Given the description of an element on the screen output the (x, y) to click on. 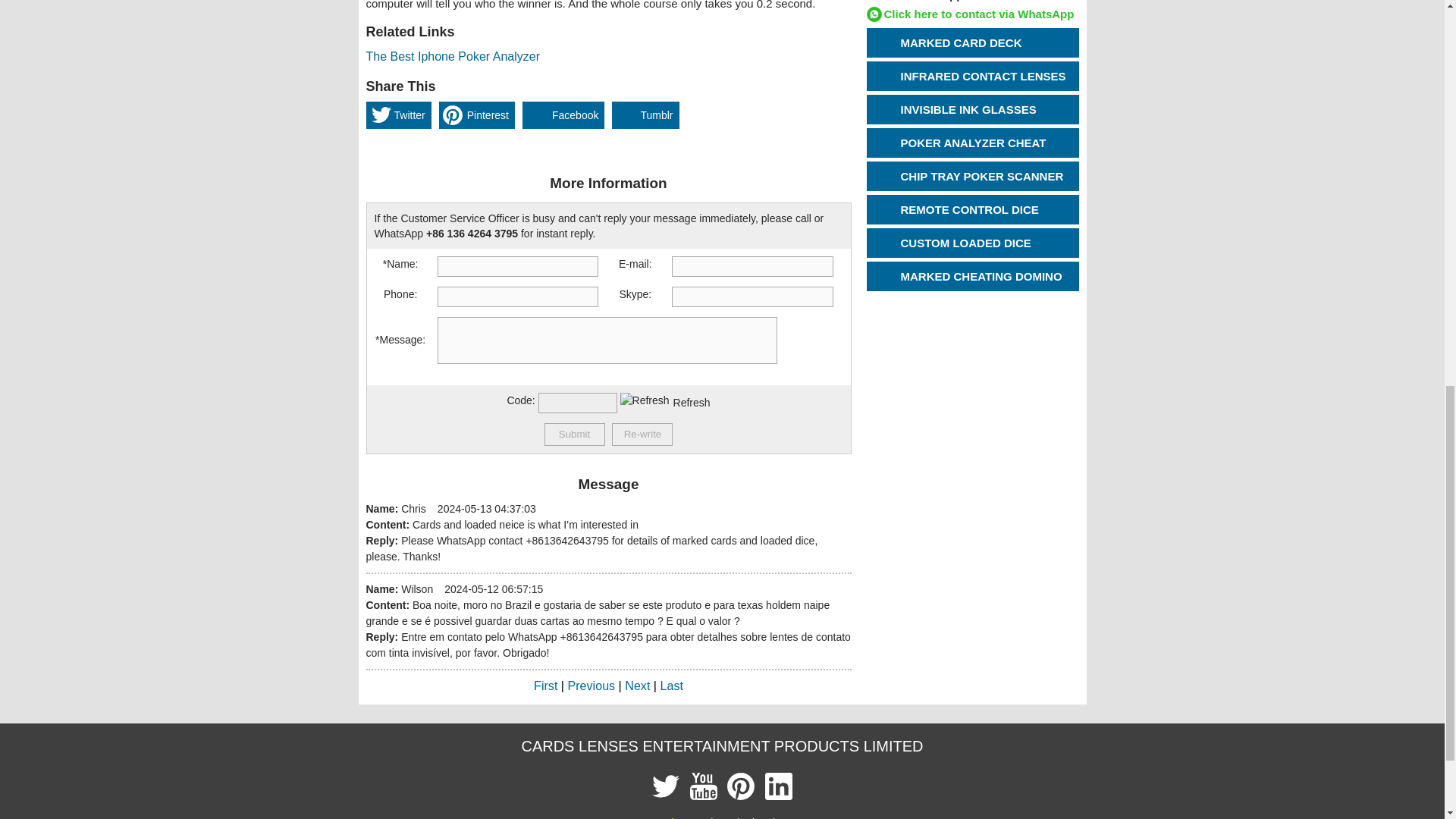
Submit (574, 434)
Share on Twitter (397, 114)
Click to contact via WhatsApp (970, 13)
Tumblr (644, 114)
Next (636, 685)
Submit (574, 434)
INFRARED CONTACT LENSES (986, 76)
MARKED CARD DECK (986, 43)
Previous (591, 685)
Share on Facebook (563, 114)
